Given the description of an element on the screen output the (x, y) to click on. 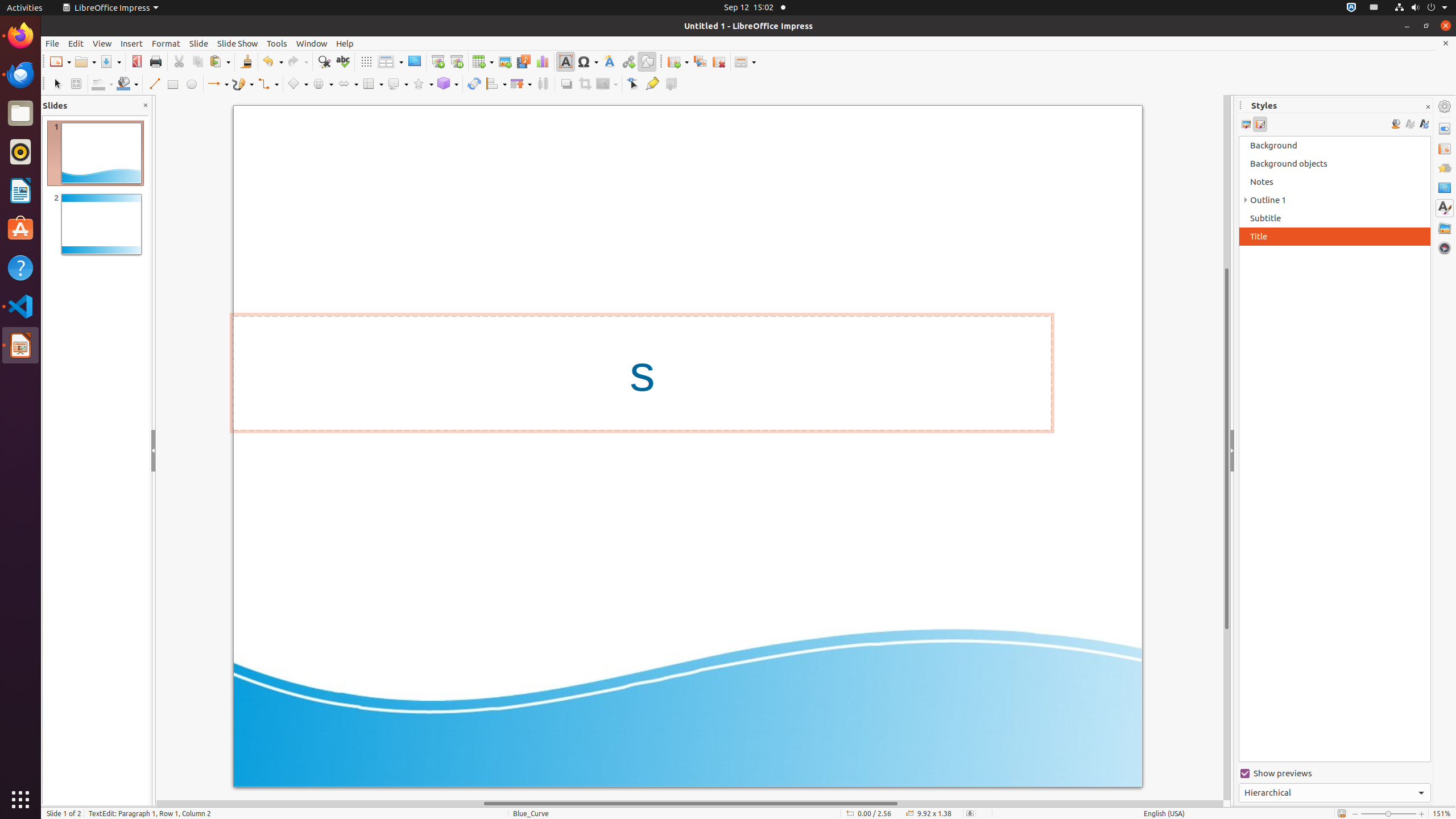
Duplicate Slide Element type: push-button (699, 61)
Symbol Element type: push-button (587, 61)
Flowchart Shapes Element type: push-button (372, 83)
Rhythmbox Element type: push-button (20, 151)
Text Box Element type: push-button (565, 61)
